Given the description of an element on the screen output the (x, y) to click on. 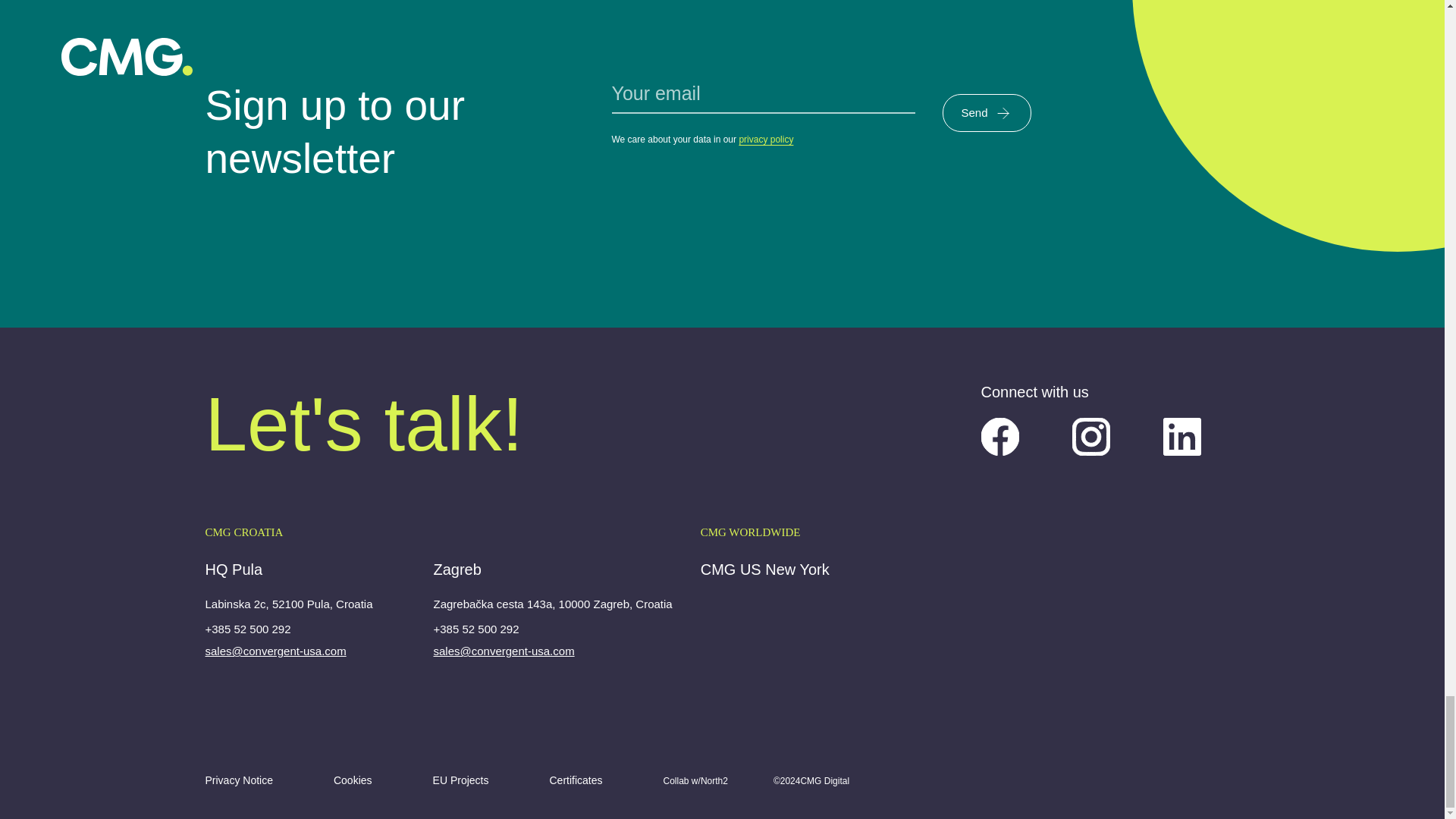
Facebook (1000, 436)
Certificates (575, 780)
LinkedIn (1182, 436)
North2 (714, 780)
EU Projects (460, 780)
Privacy Notice (238, 780)
Cookies (352, 780)
privacy policy (765, 139)
Send (986, 112)
Instagram (1090, 436)
Labinska 2c, 52100 Pula, Croatia (288, 606)
